Given the description of an element on the screen output the (x, y) to click on. 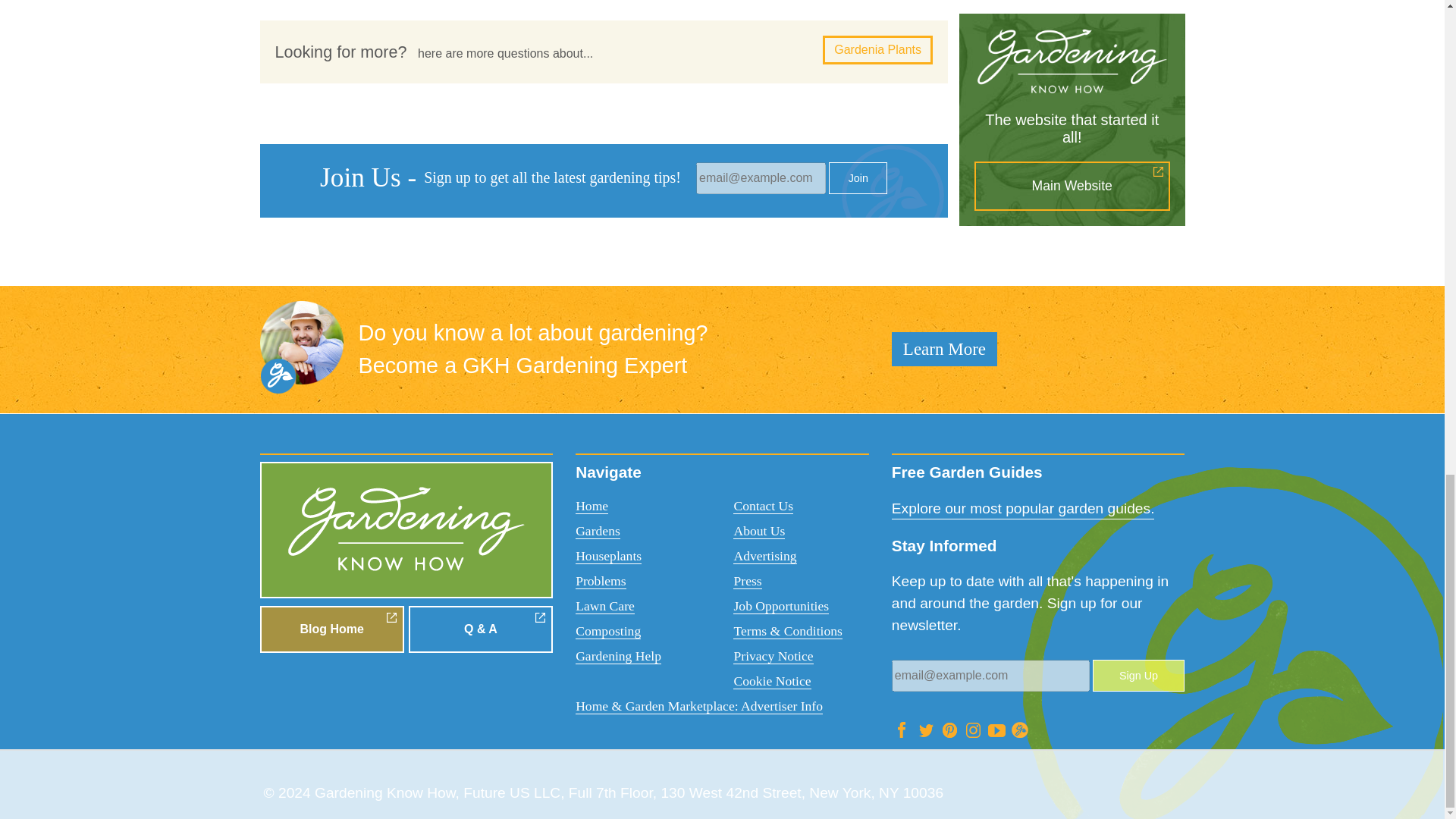
Gardenia Plants (877, 50)
Join (857, 178)
